Given the description of an element on the screen output the (x, y) to click on. 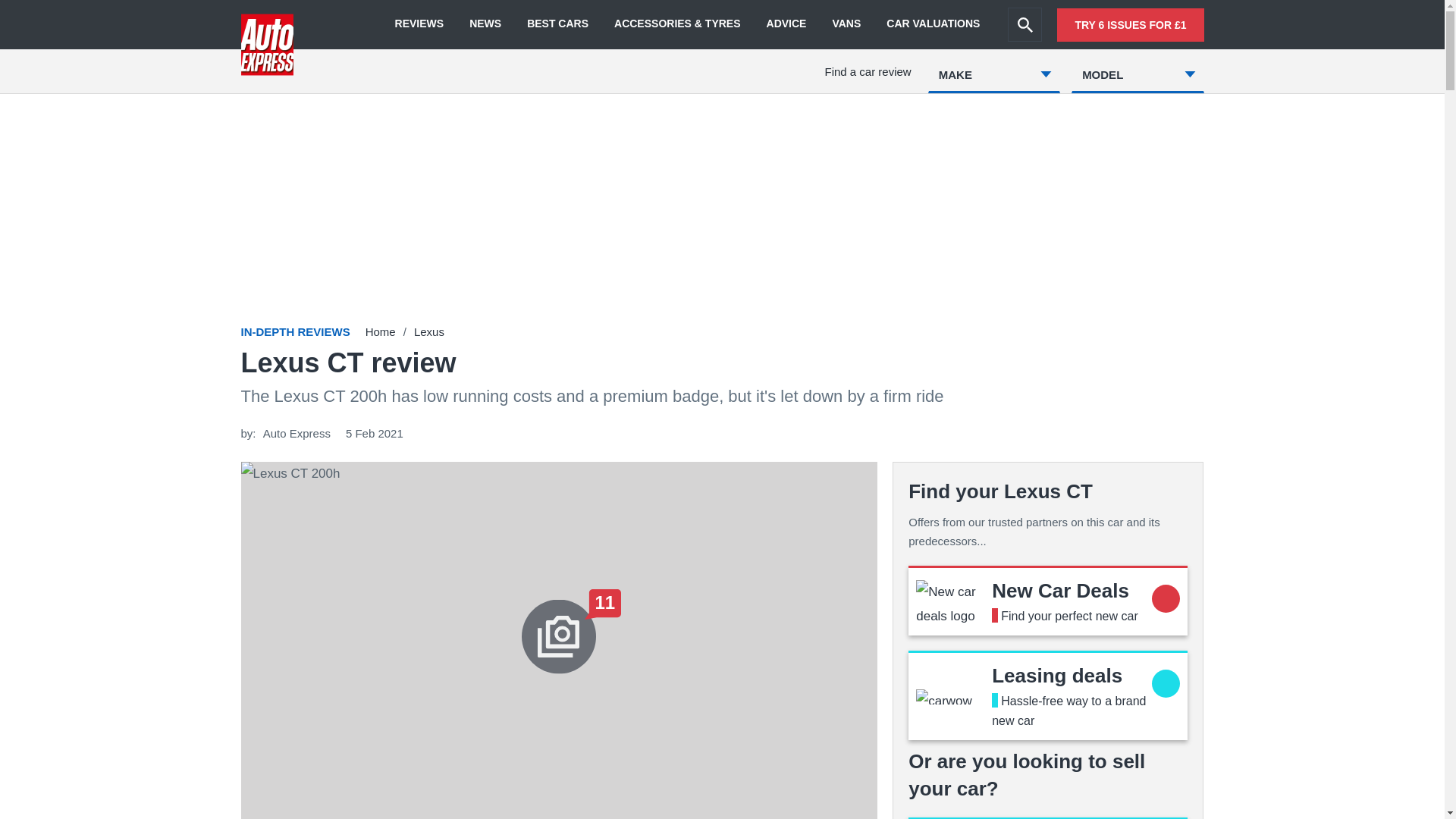
NEWS (485, 24)
Search (1024, 24)
Search (1024, 24)
ADVICE (786, 24)
VANS (845, 24)
REVIEWS (419, 24)
BEST CARS (557, 24)
CAR VALUATIONS (932, 24)
